Given the description of an element on the screen output the (x, y) to click on. 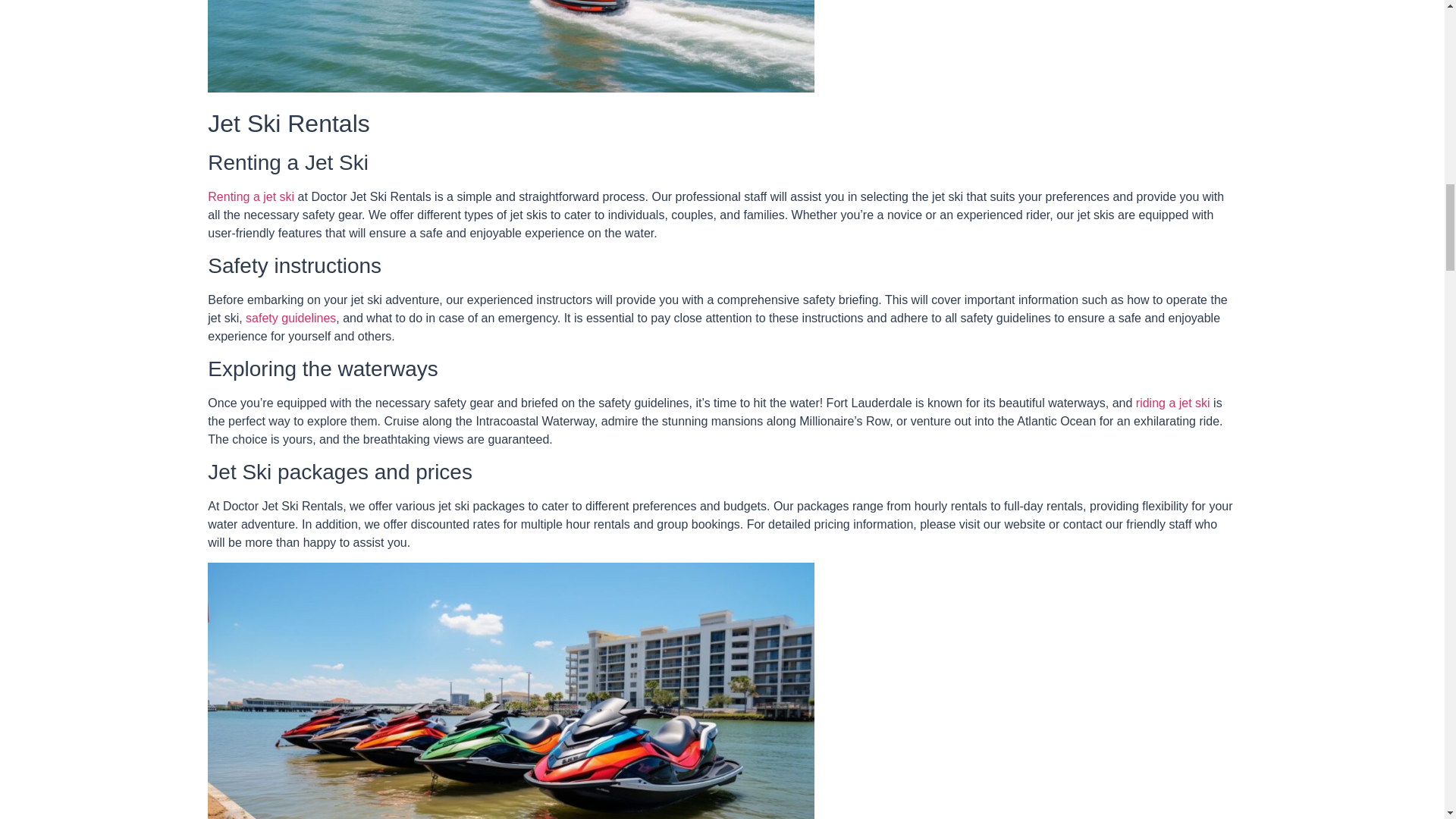
Renting a jet ski (251, 196)
riding a jet ski (1172, 402)
safety guidelines (291, 318)
